Given the description of an element on the screen output the (x, y) to click on. 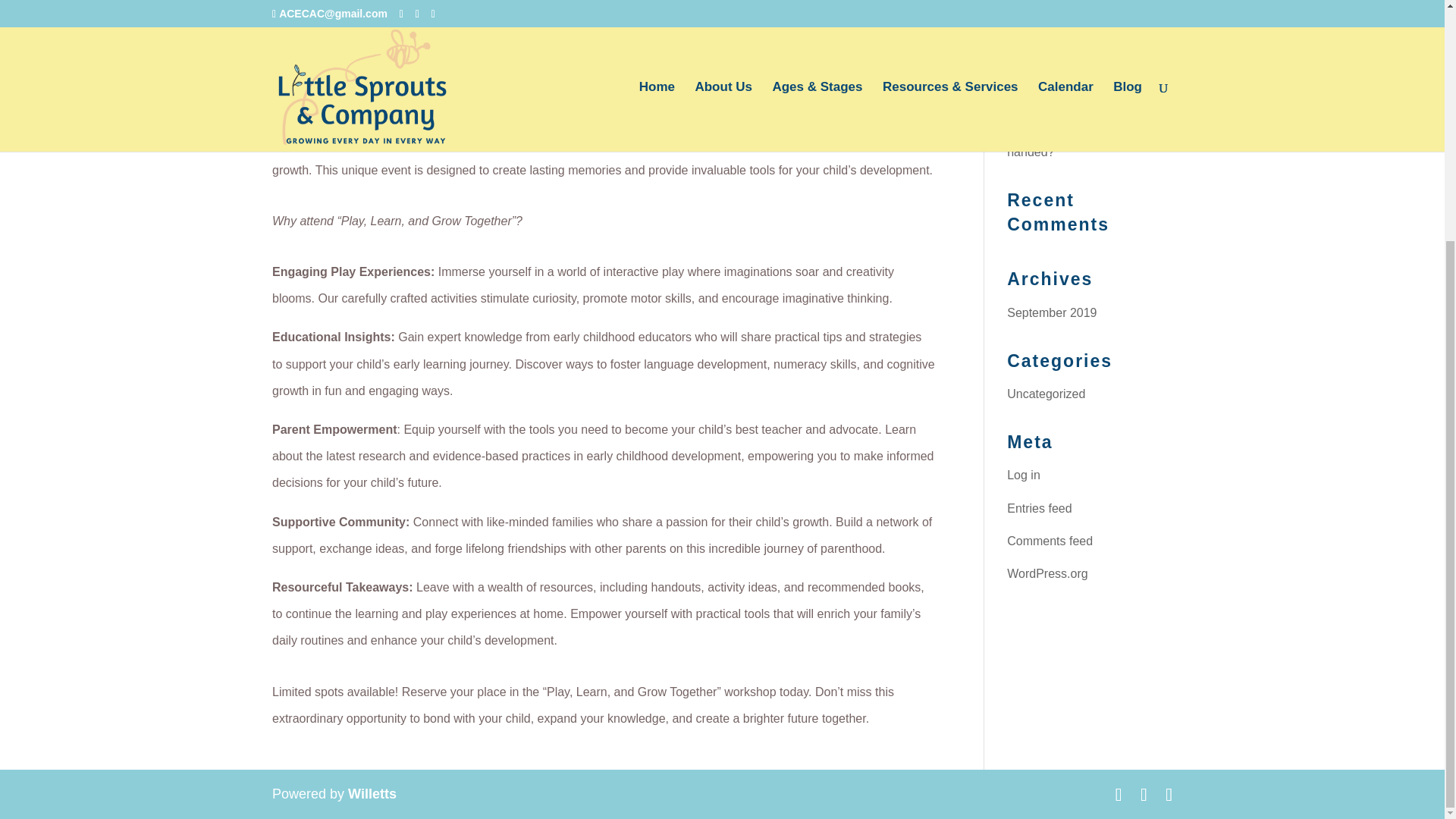
Dan's Mt. State Park (327, 40)
Coping with the Defiant Toddler (1069, 52)
September 2019 (1051, 312)
Uncategorized (1045, 393)
Comments feed (1050, 540)
Willetts (371, 793)
WordPress.org (1047, 573)
Log in (1024, 474)
Entries feed (1039, 508)
